Given the description of an element on the screen output the (x, y) to click on. 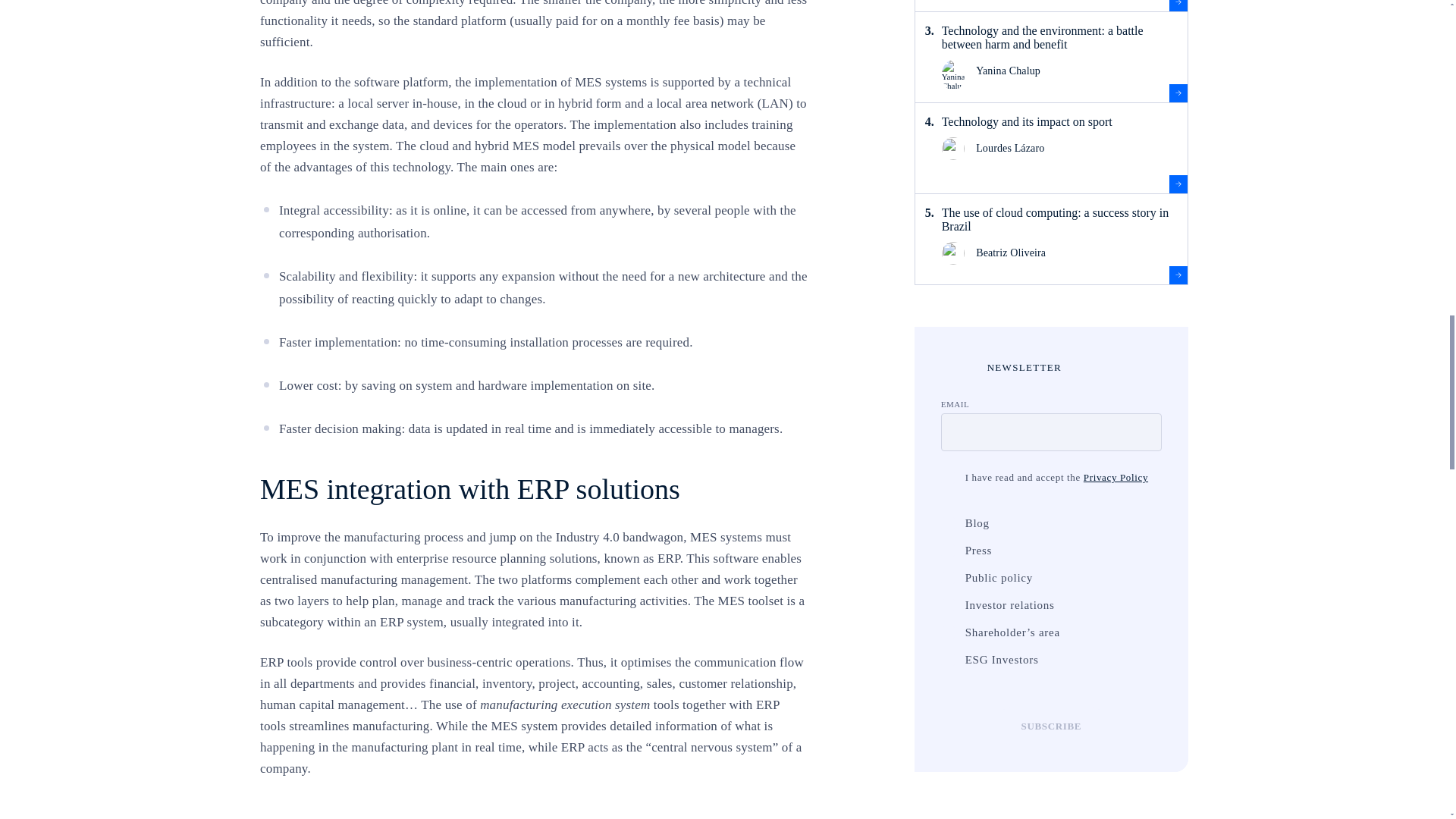
Press (948, 549)
on (948, 477)
ESG Investors (948, 659)
Blog (948, 522)
Shareholder's area (948, 631)
Public policy (948, 577)
Investor relations (948, 604)
